Given the description of an element on the screen output the (x, y) to click on. 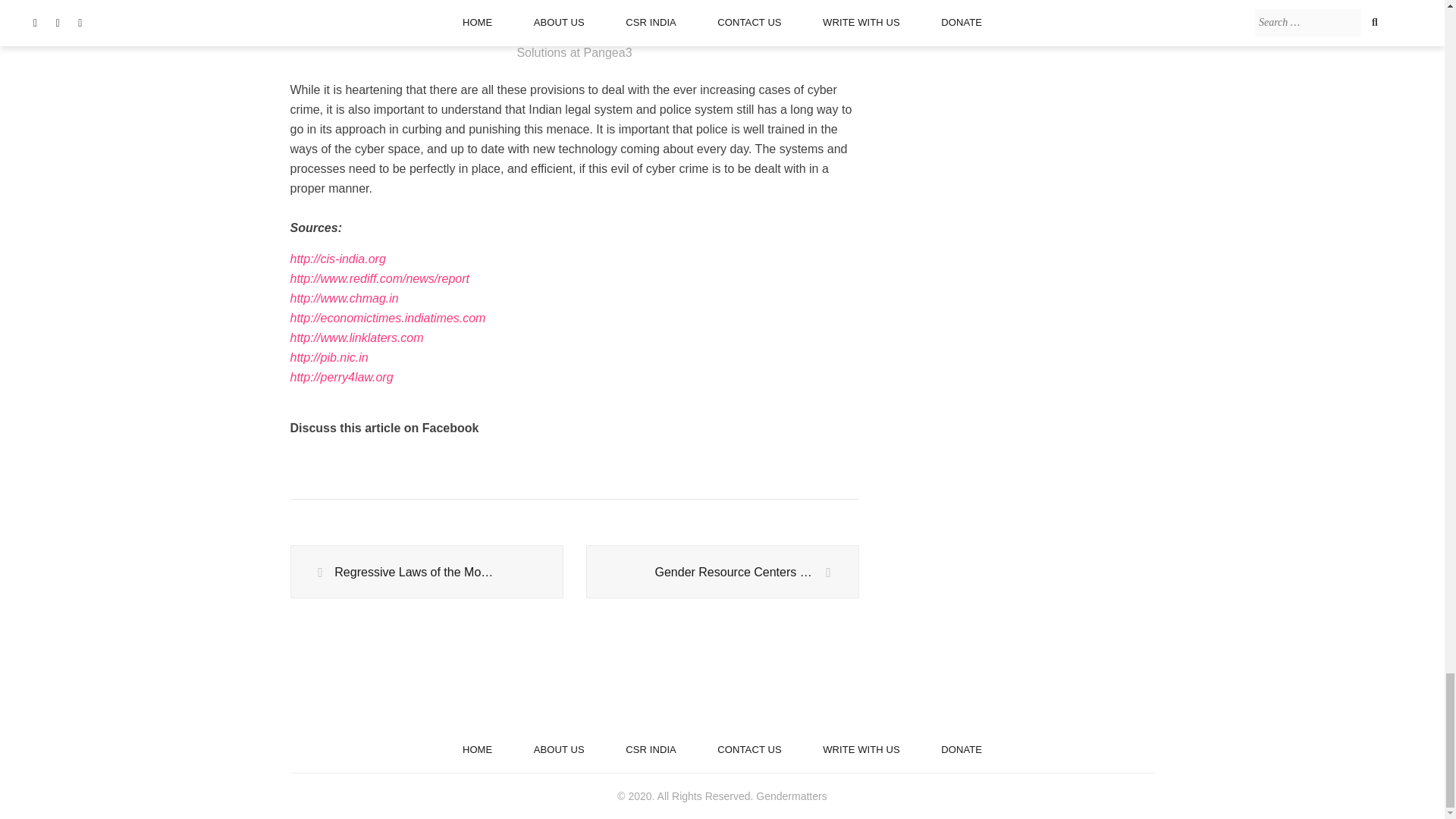
Regressive Laws of the Modern World (426, 572)
